Given the description of an element on the screen output the (x, y) to click on. 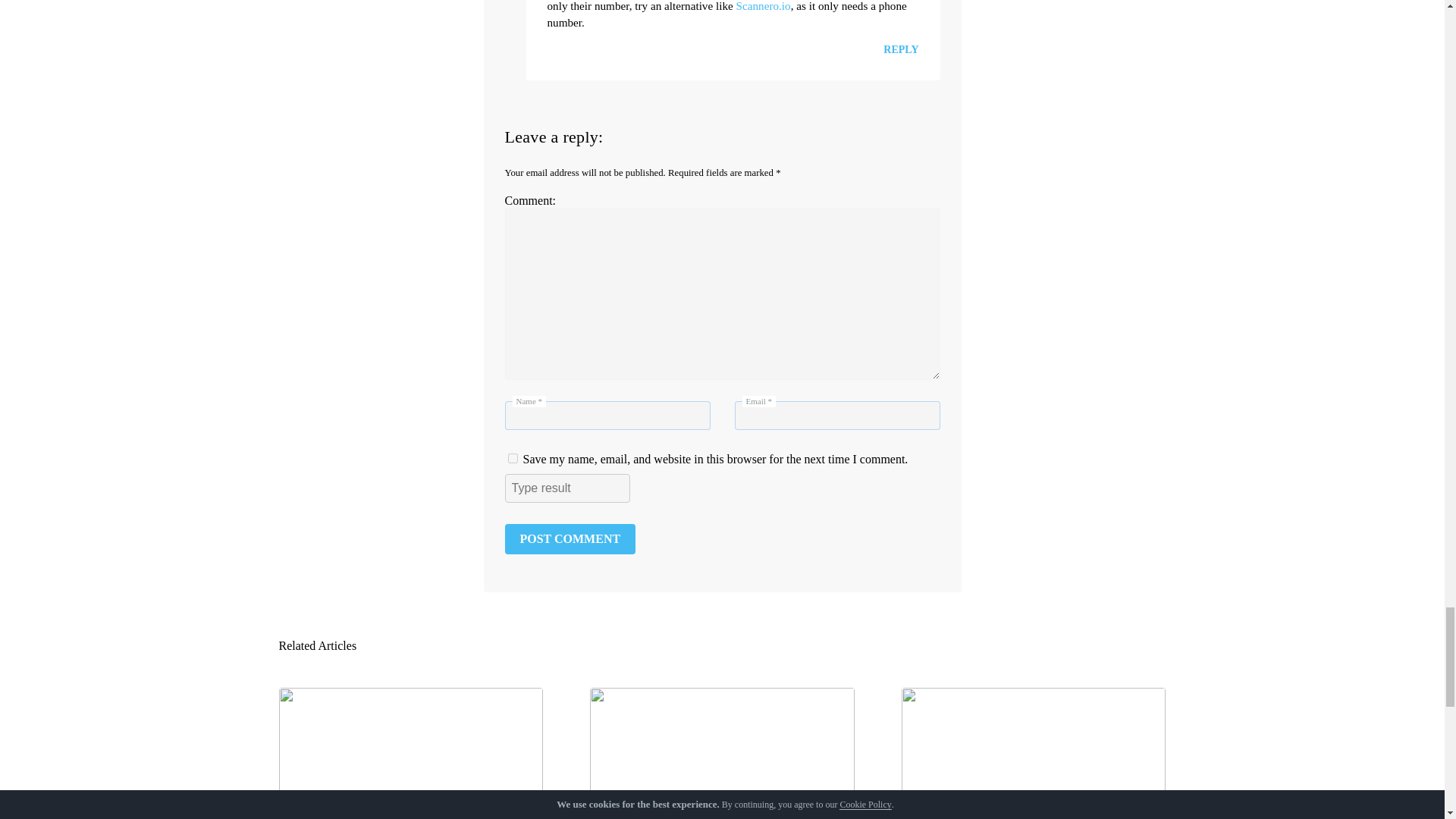
yes (513, 458)
REPLY (900, 49)
Scannero.io (763, 6)
